Given the description of an element on the screen output the (x, y) to click on. 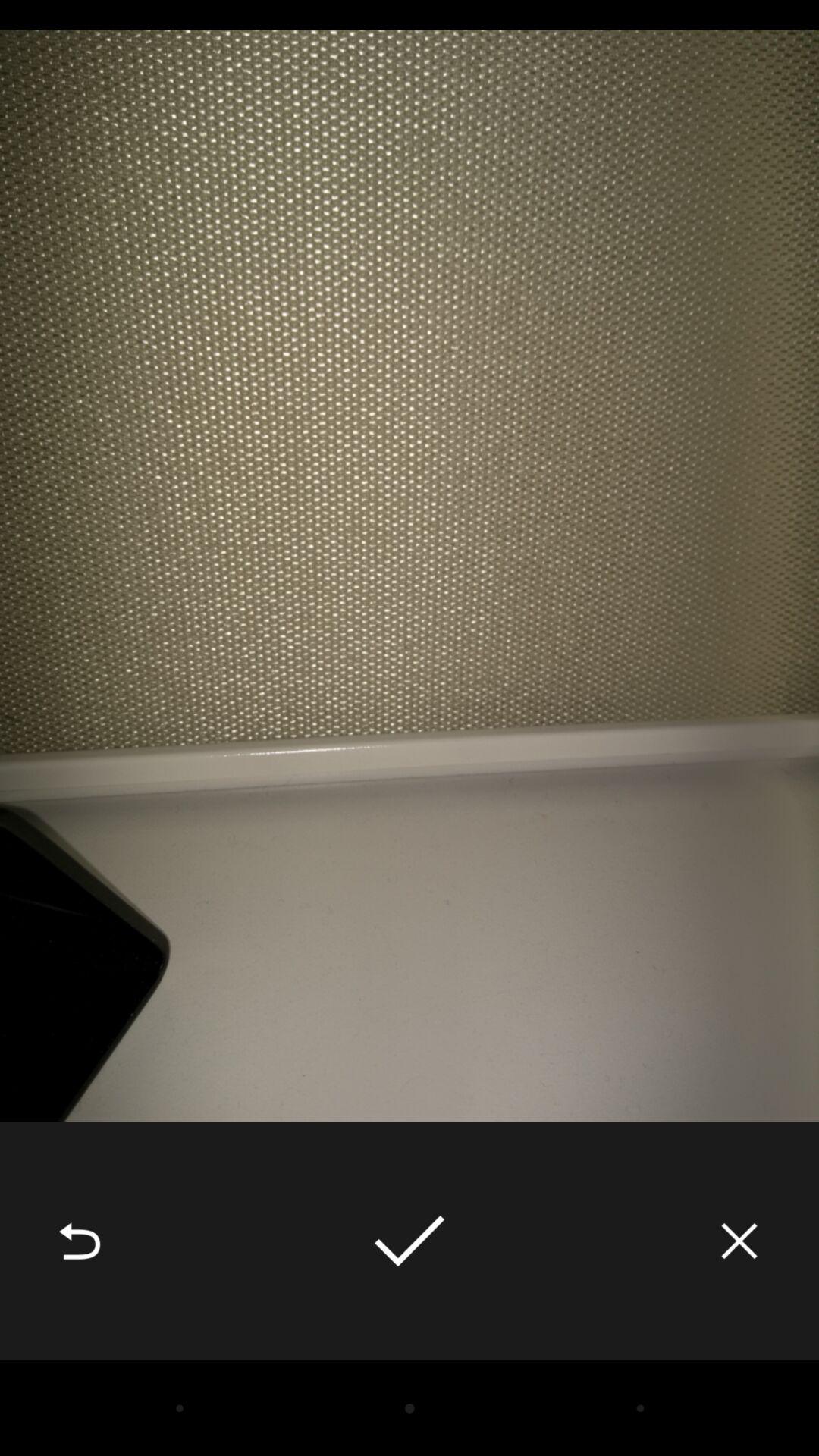
click the icon at the bottom left corner (79, 1240)
